Given the description of an element on the screen output the (x, y) to click on. 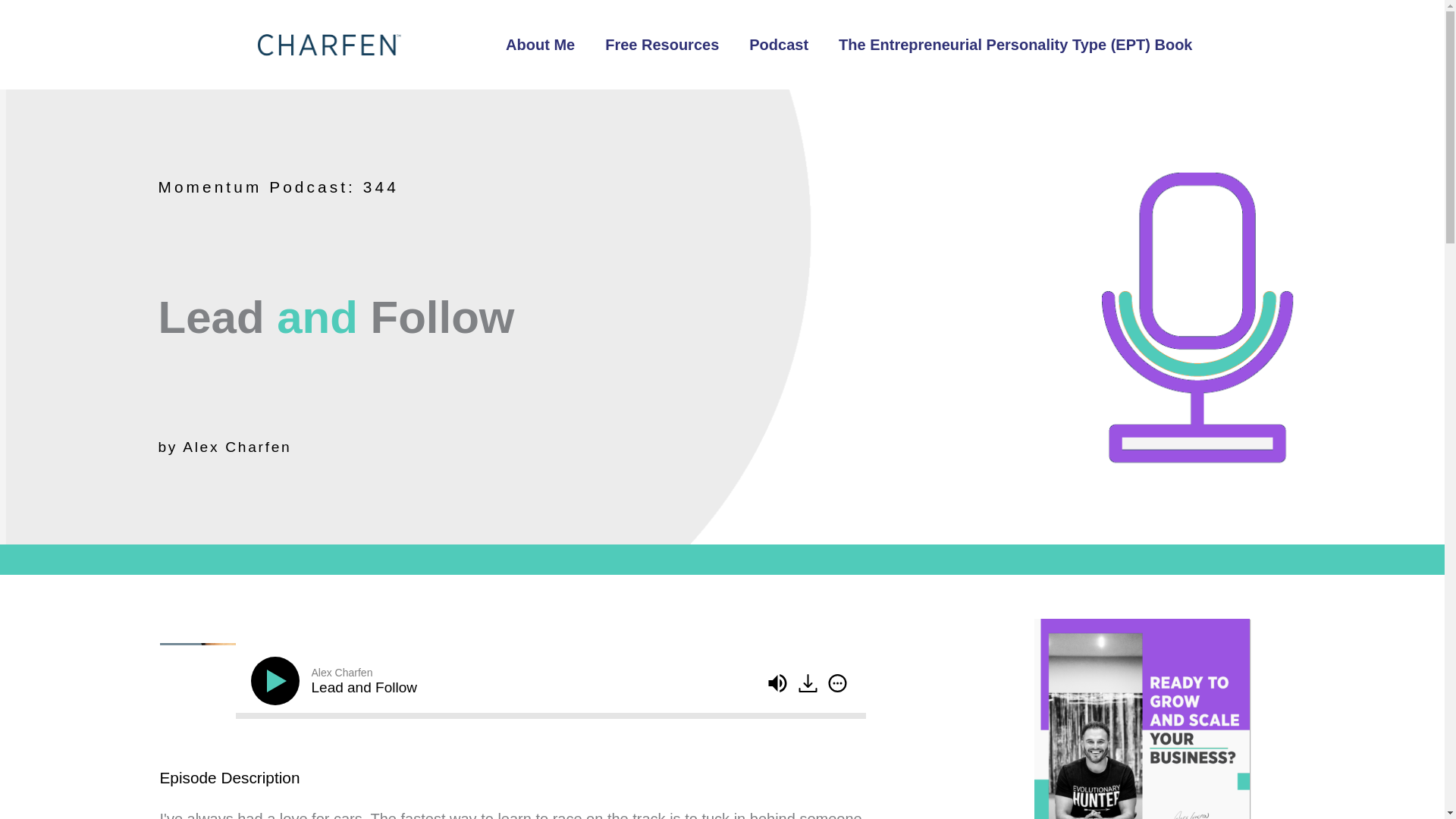
More (837, 683)
Free Resources (661, 44)
Podcast (778, 44)
About Me (539, 44)
Download (807, 683)
Download (809, 684)
